Given the description of an element on the screen output the (x, y) to click on. 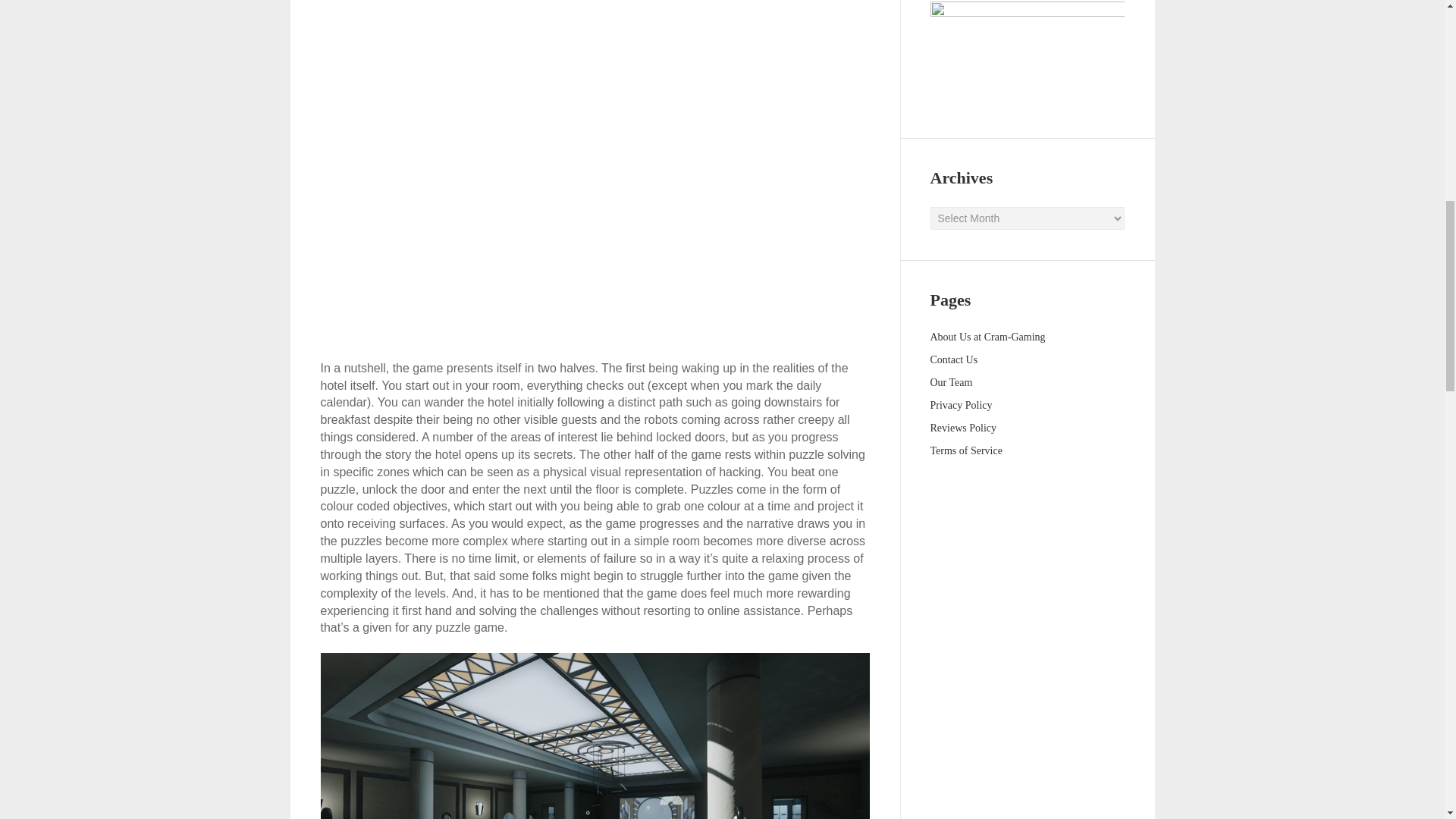
About Us at Cram-Gaming (987, 337)
Contact Us (953, 359)
Our Team (951, 382)
